Given the description of an element on the screen output the (x, y) to click on. 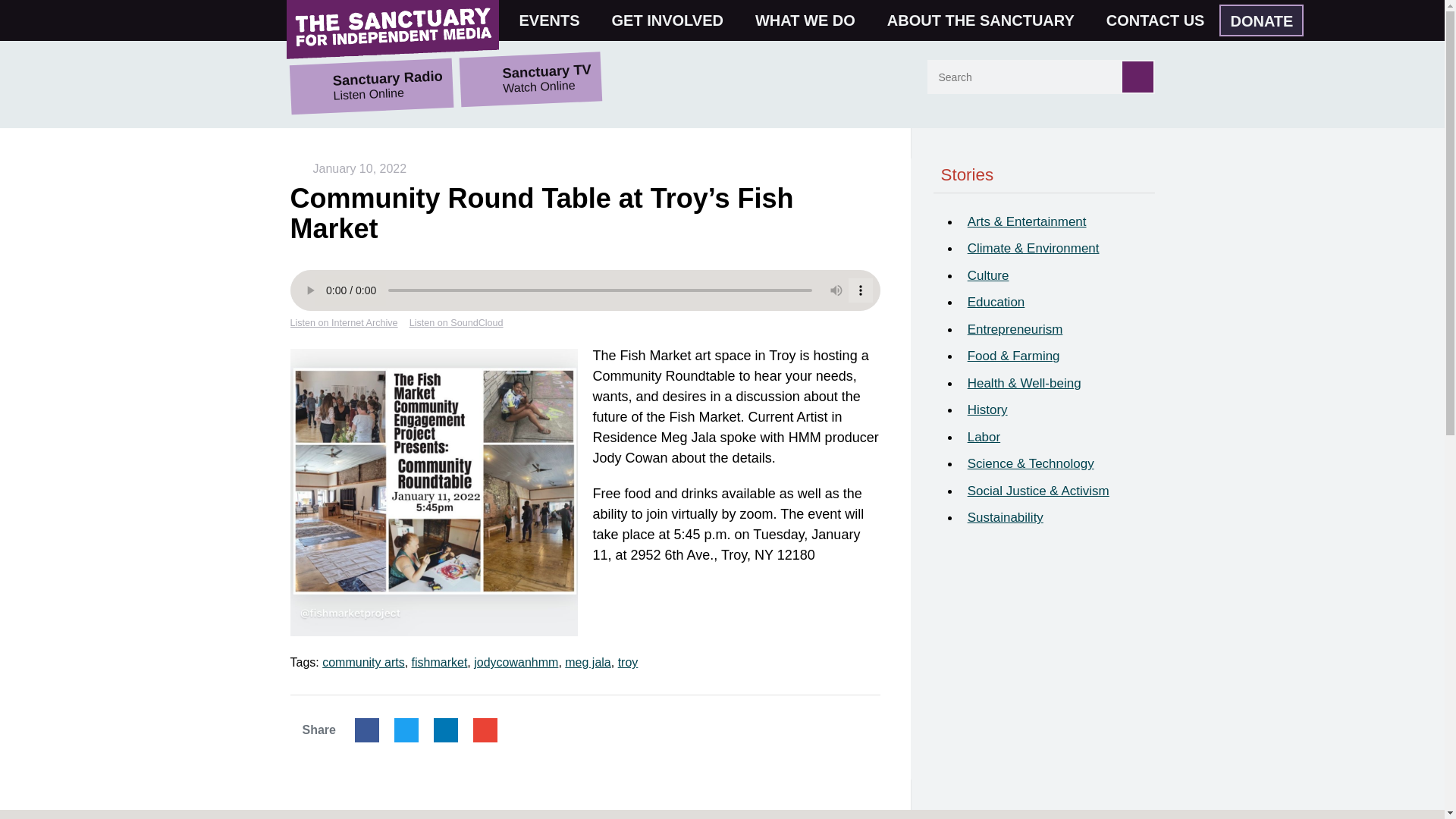
WHAT WE DO (811, 20)
GET INVOLVED (673, 20)
EVENTS (555, 20)
ABOUT THE SANCTUARY (987, 20)
